Given the description of an element on the screen output the (x, y) to click on. 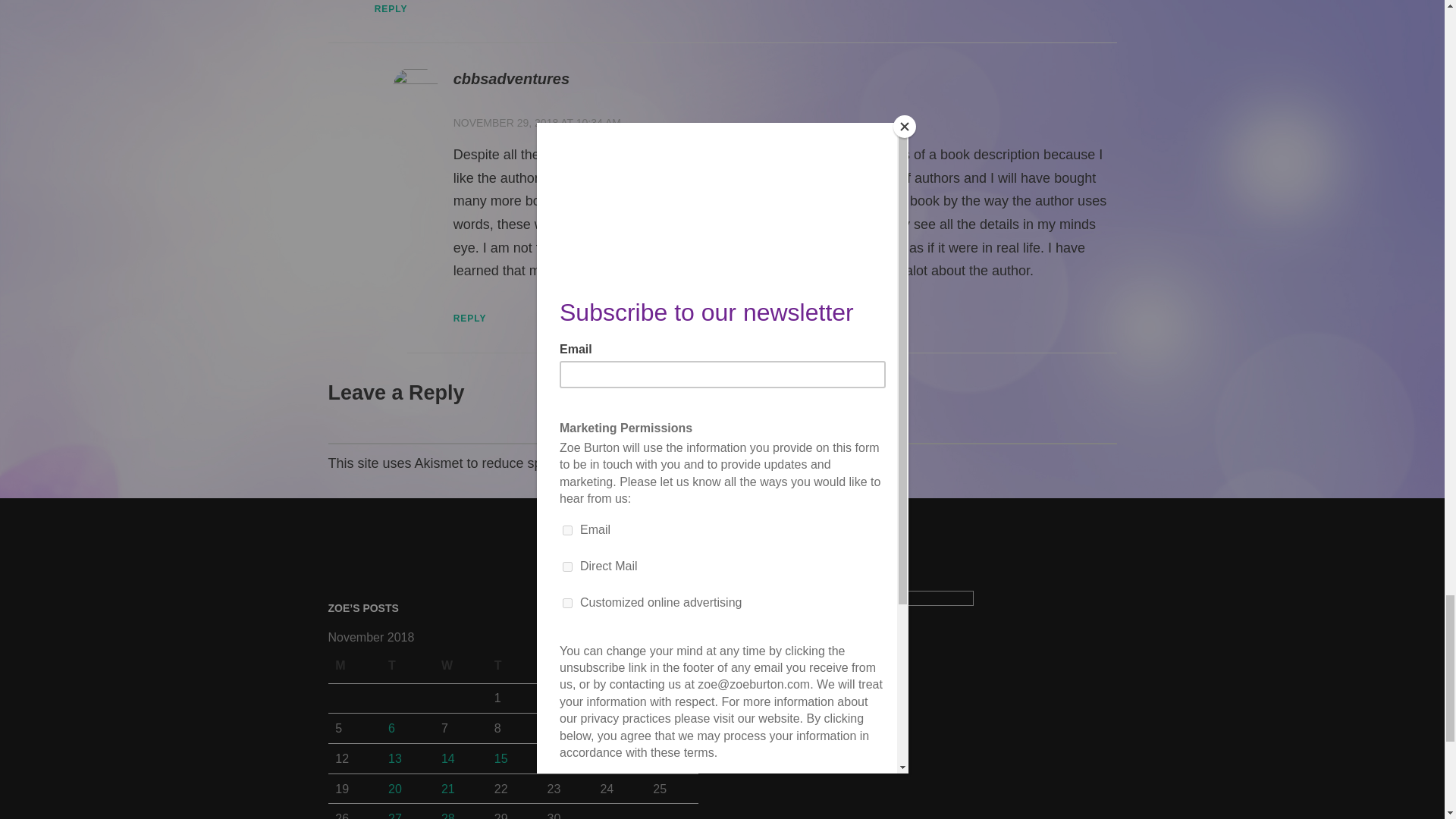
cbbsadventures (510, 78)
REPLY (390, 9)
Thursday (513, 665)
Monday (353, 665)
NOVEMBER 29, 2018 AT 10:34 AM (536, 122)
Friday (566, 665)
Tuesday (406, 665)
Sunday (671, 665)
Wednesday (459, 665)
Saturday (619, 665)
